Given the description of an element on the screen output the (x, y) to click on. 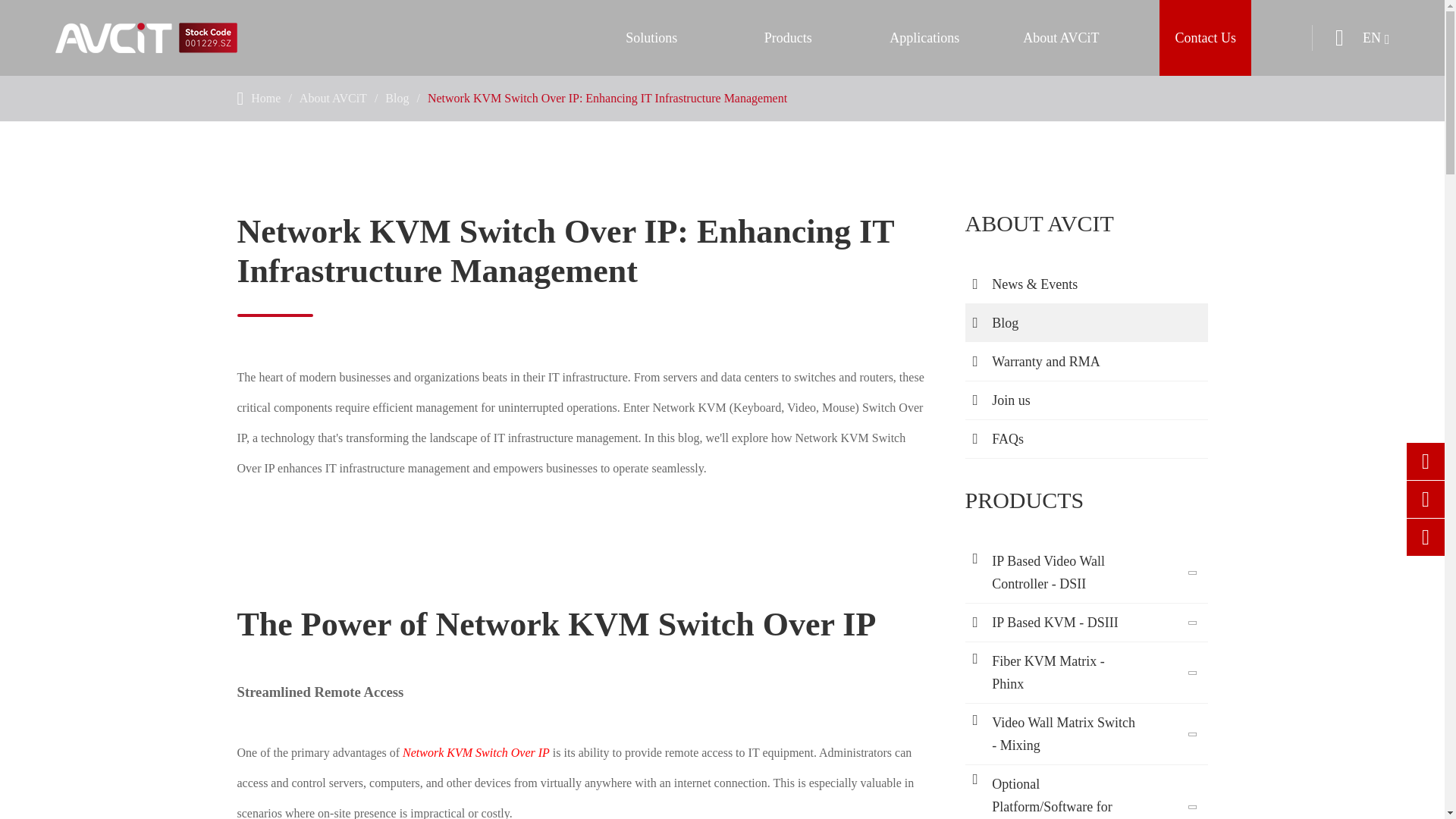
Guangdong AVCiT Technology Holding Co., Ltd. (145, 37)
Solutions (650, 38)
About AVCiT (332, 97)
Blog (397, 97)
Products (787, 38)
